Given the description of an element on the screen output the (x, y) to click on. 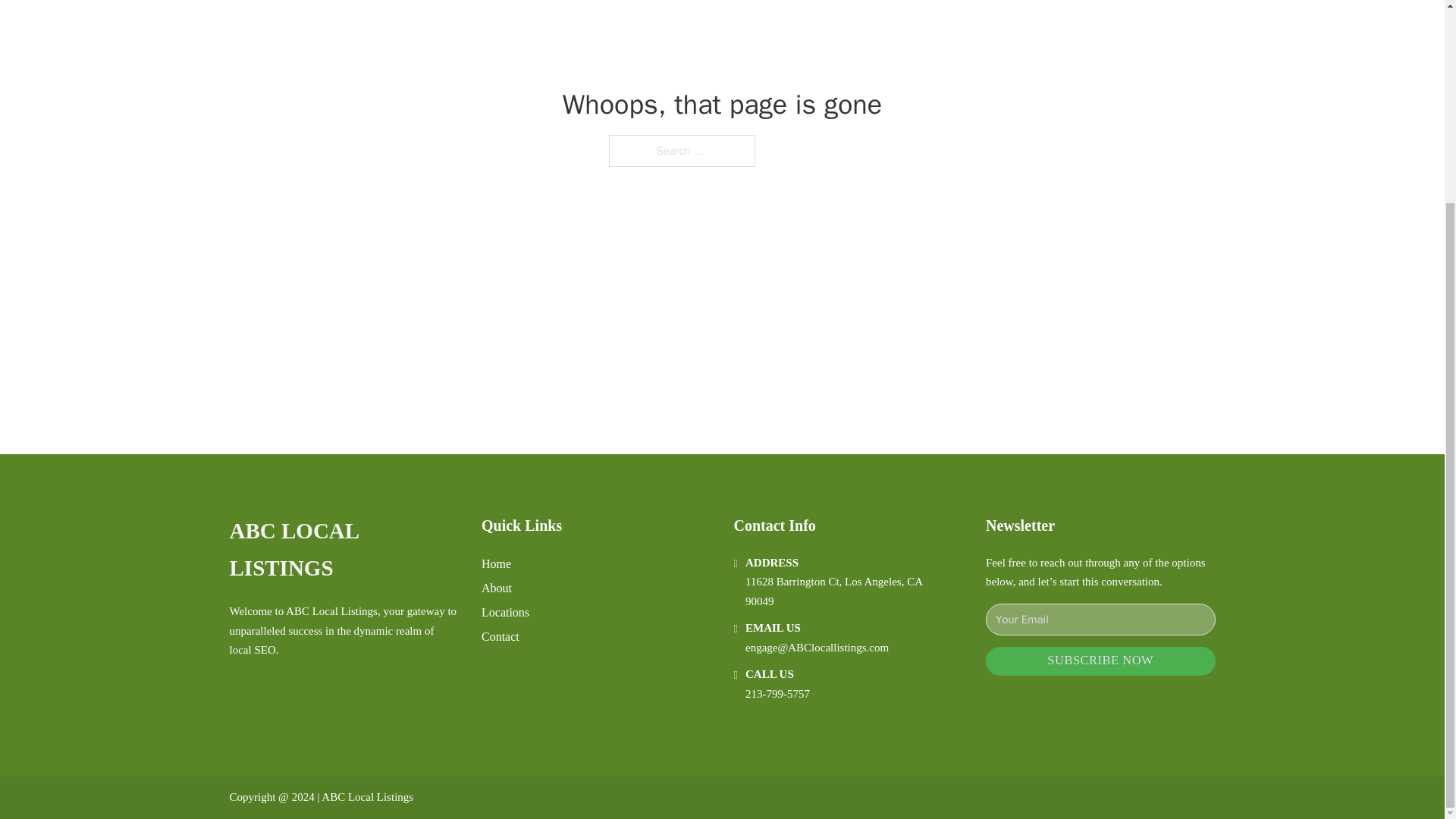
ABC LOCAL LISTINGS (343, 550)
SUBSCRIBE NOW (1100, 661)
Locations (505, 611)
Contact (500, 636)
About (496, 588)
Home (496, 563)
213-799-5757 (777, 693)
